Given the description of an element on the screen output the (x, y) to click on. 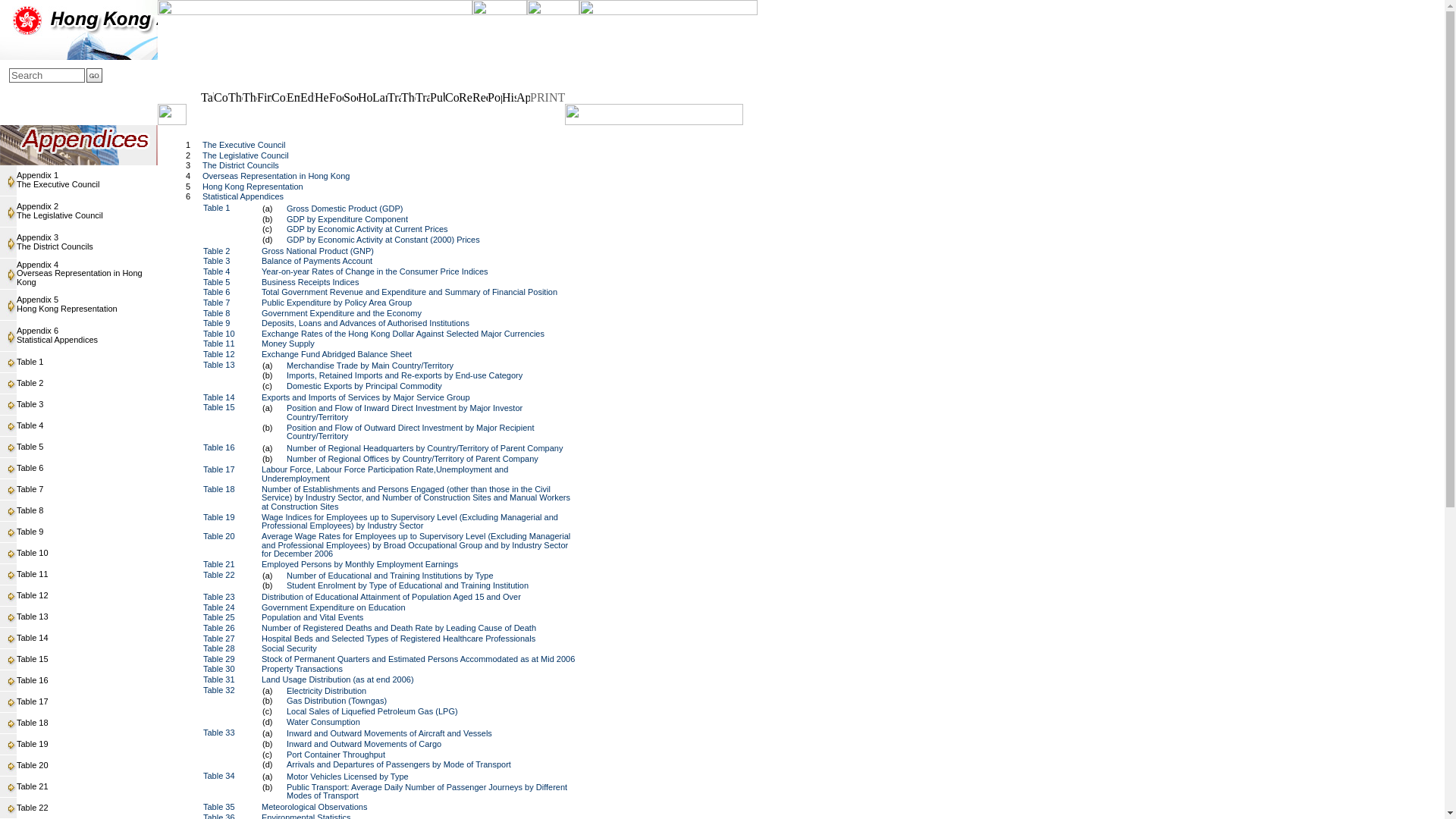
Table 2 (29, 382)
Table 19 (32, 743)
Table 5 (29, 446)
Table 20 (57, 179)
Table 17 (32, 764)
Table 14 (56, 334)
Table 13 (32, 700)
